Given the description of an element on the screen output the (x, y) to click on. 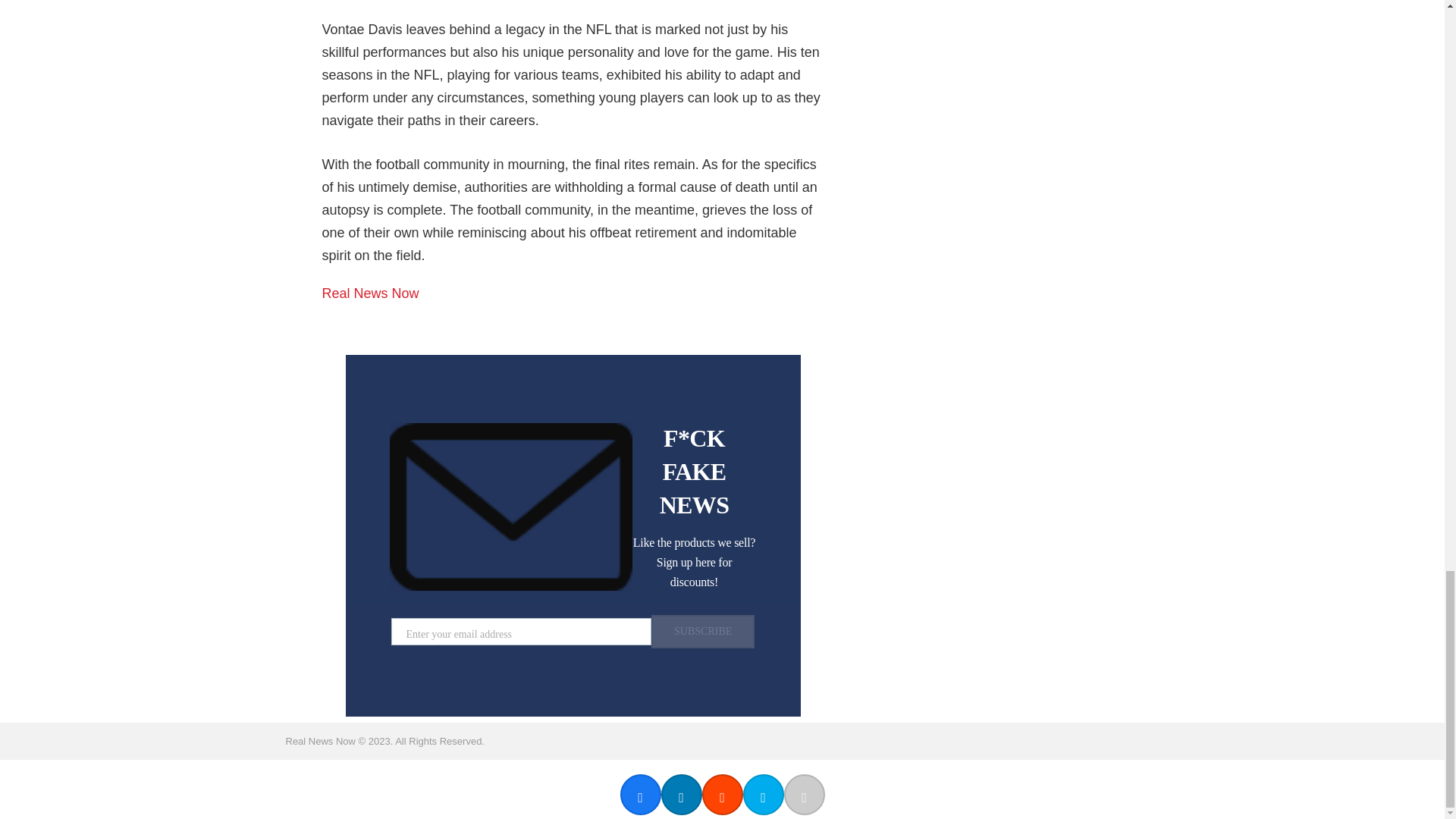
SUBSCRIBE (702, 631)
Real News Now (370, 293)
